Given the description of an element on the screen output the (x, y) to click on. 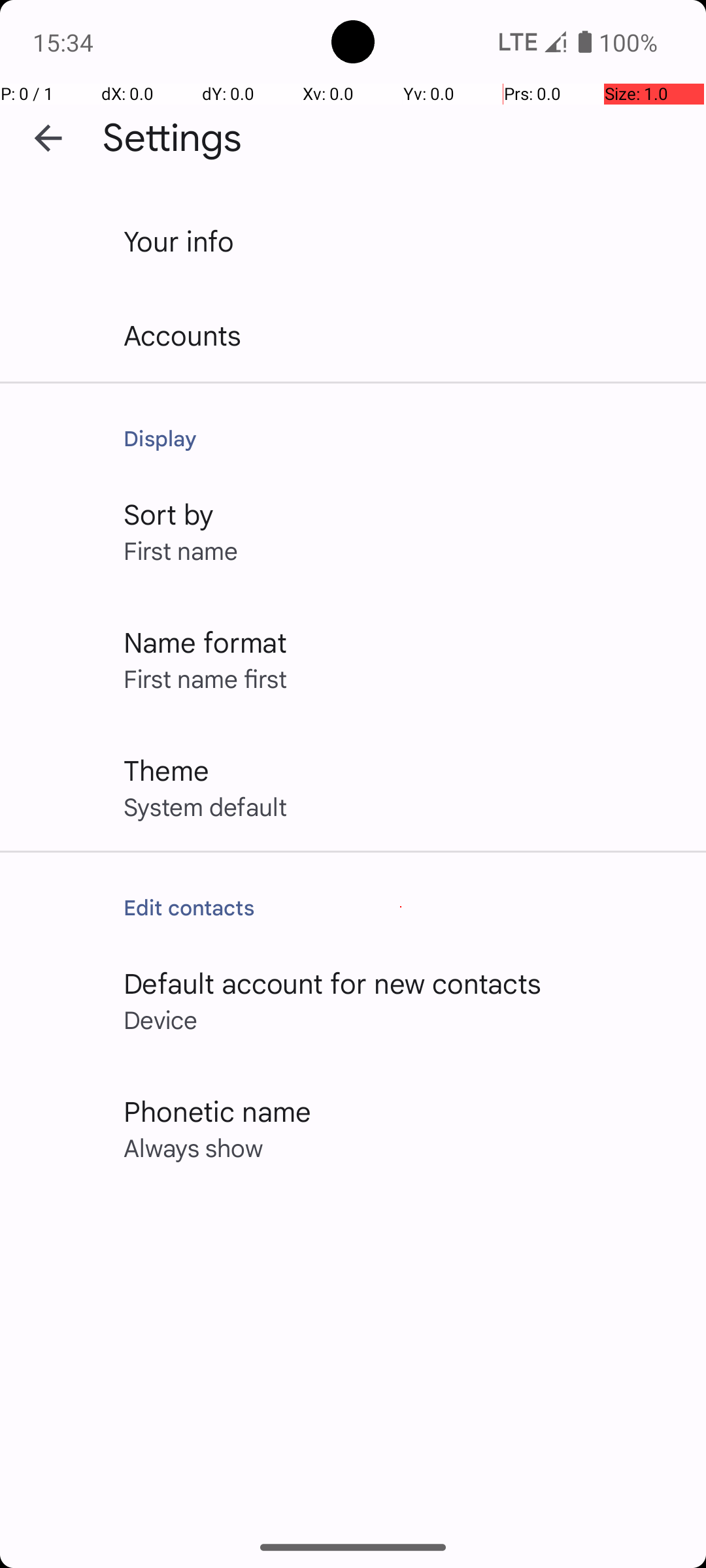
Your info Element type: android.widget.TextView (178, 240)
Accounts Element type: android.widget.TextView (182, 334)
Display Element type: android.widget.TextView (400, 437)
Name format Element type: android.widget.TextView (205, 641)
First name first Element type: android.widget.TextView (204, 678)
Edit contacts Element type: android.widget.TextView (400, 906)
Default account for new contacts Element type: android.widget.TextView (332, 982)
Phonetic name Element type: android.widget.TextView (217, 1110)
Always show Element type: android.widget.TextView (192, 1147)
